Given the description of an element on the screen output the (x, y) to click on. 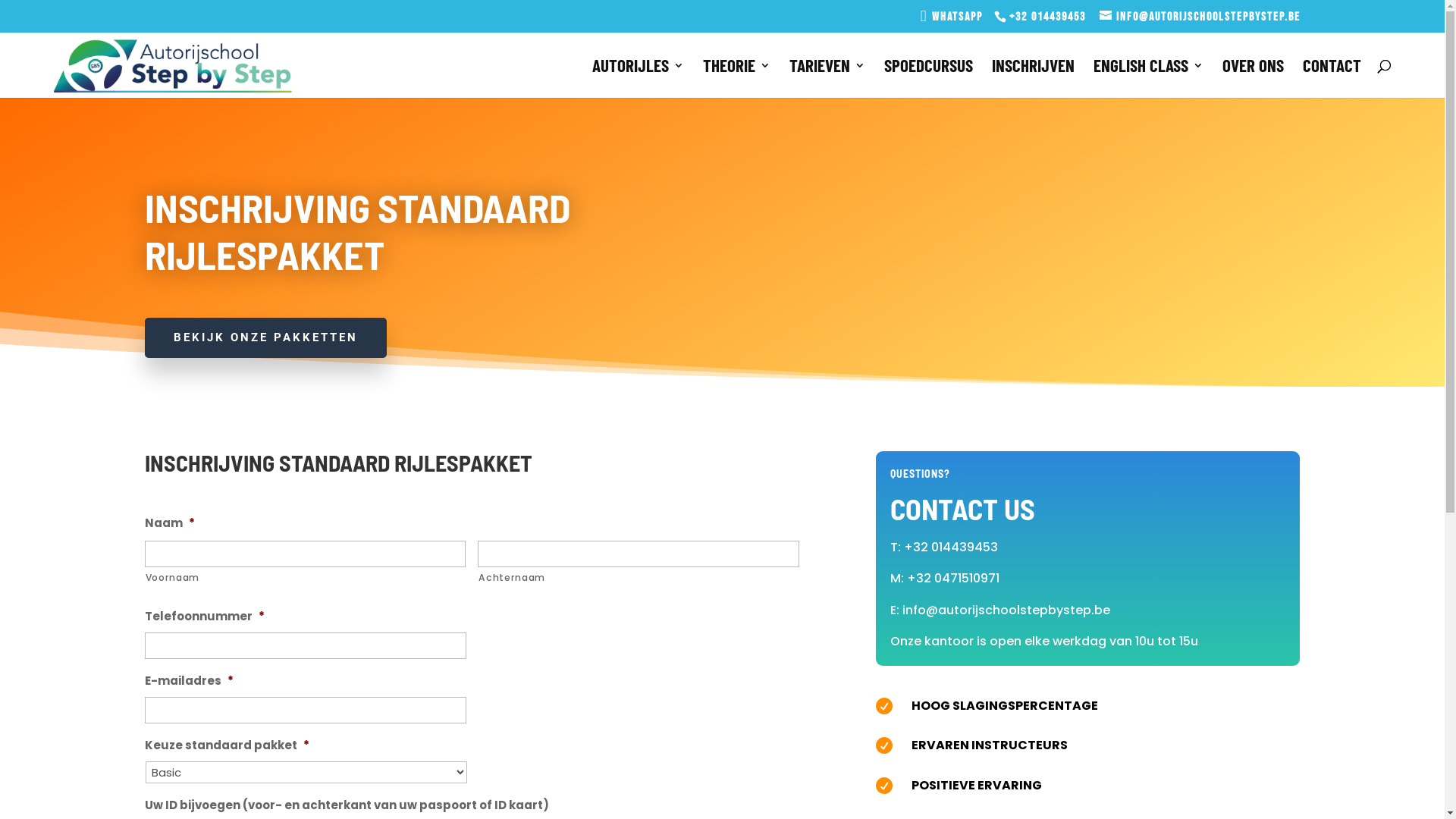
OVER ONS Element type: text (1252, 78)
ENGLISH CLASS Element type: text (1148, 78)
THEORIE Element type: text (736, 78)
CONTACT Element type: text (1331, 78)
TARIEVEN Element type: text (827, 78)
SPOEDCURSUS Element type: text (928, 78)
WhatsApp Element type: text (955, 16)
INSCHRIJVEN Element type: text (1032, 78)
BEKIJK ONZE PAKKETTEN Element type: text (264, 337)
AUTORIJLES Element type: text (638, 78)
info@autorijschoolstepbystep.be Element type: text (1199, 16)
